Given the description of an element on the screen output the (x, y) to click on. 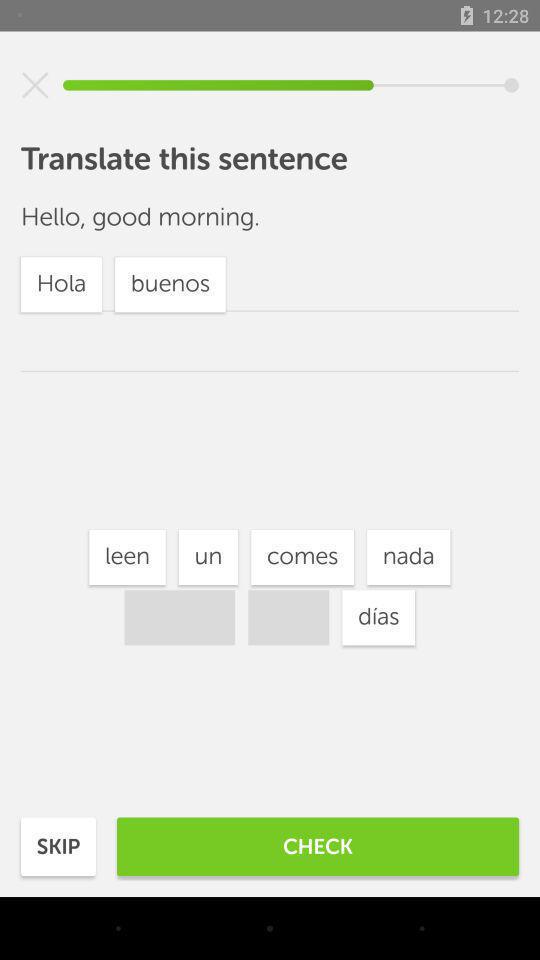
launch item to the left of hola icon (208, 557)
